Given the description of an element on the screen output the (x, y) to click on. 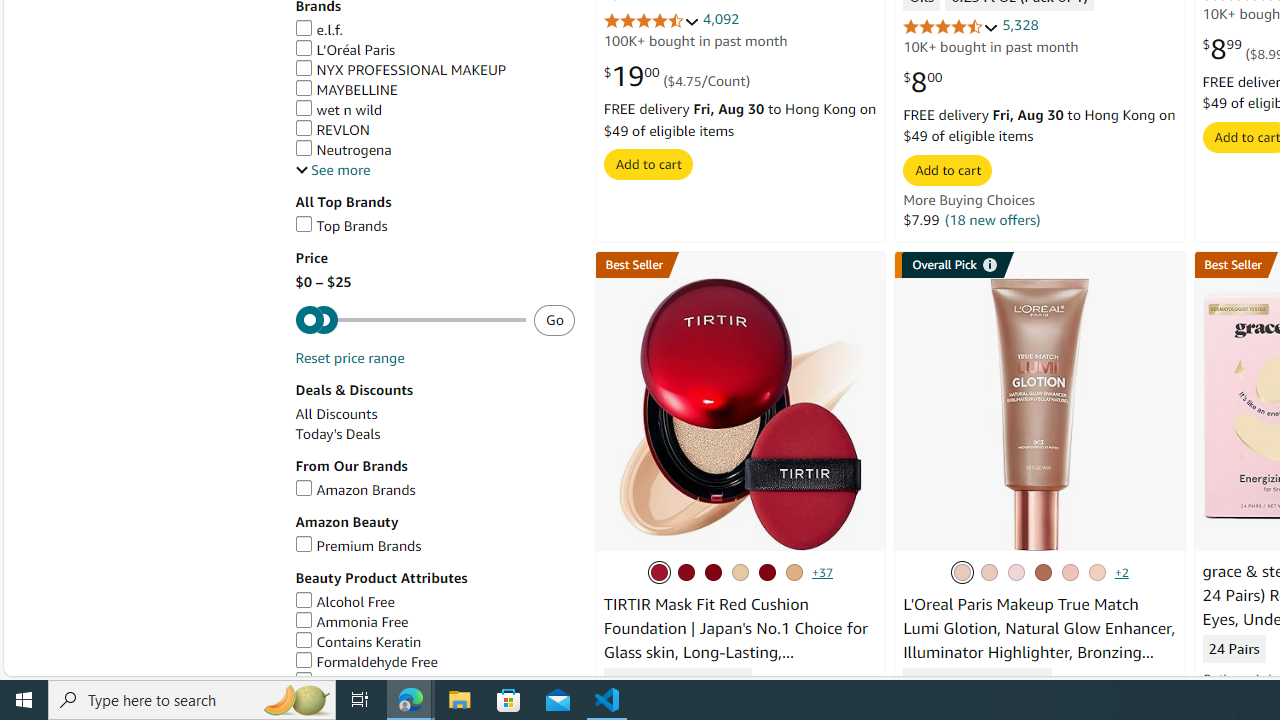
Formaldehyde Free (434, 662)
902 Light (1016, 572)
Hypoallergenic (353, 681)
e.l.f. (434, 30)
$19.00 ( $4.75 /Count) (676, 77)
REVLON (331, 129)
e.l.f. (318, 30)
MAYBELLINE (346, 89)
wet n wild (338, 110)
+2 (1120, 571)
Medium (1096, 572)
